Given the description of an element on the screen output the (x, y) to click on. 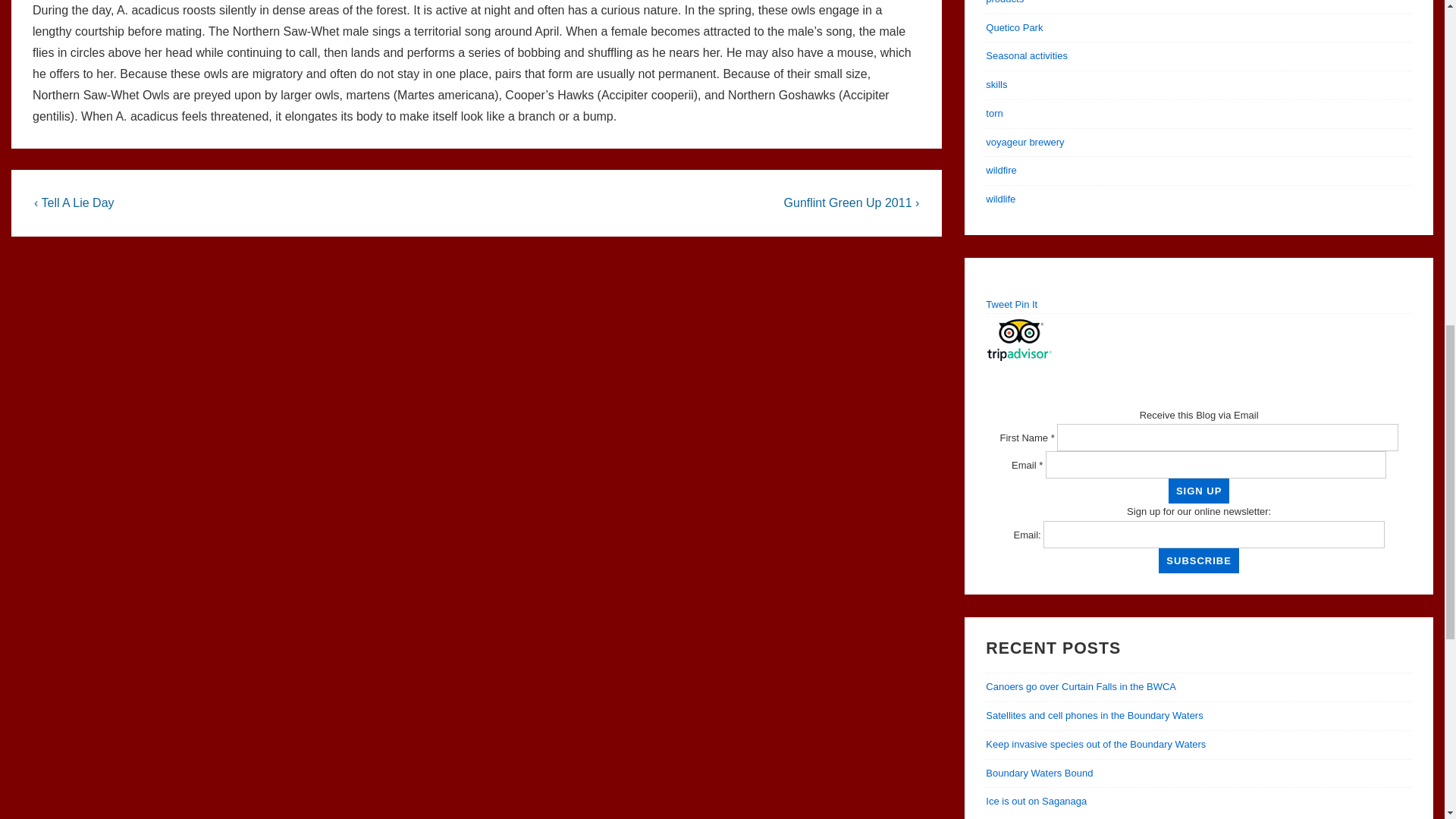
Seasonal activities (1026, 55)
wildfire (1000, 170)
voyageur brewery (1024, 142)
products (1004, 2)
Sign Up (1198, 490)
Tweet (998, 304)
Subscribe (1198, 560)
Quetico Park (1013, 27)
torn (994, 112)
wildlife (999, 198)
